Given the description of an element on the screen output the (x, y) to click on. 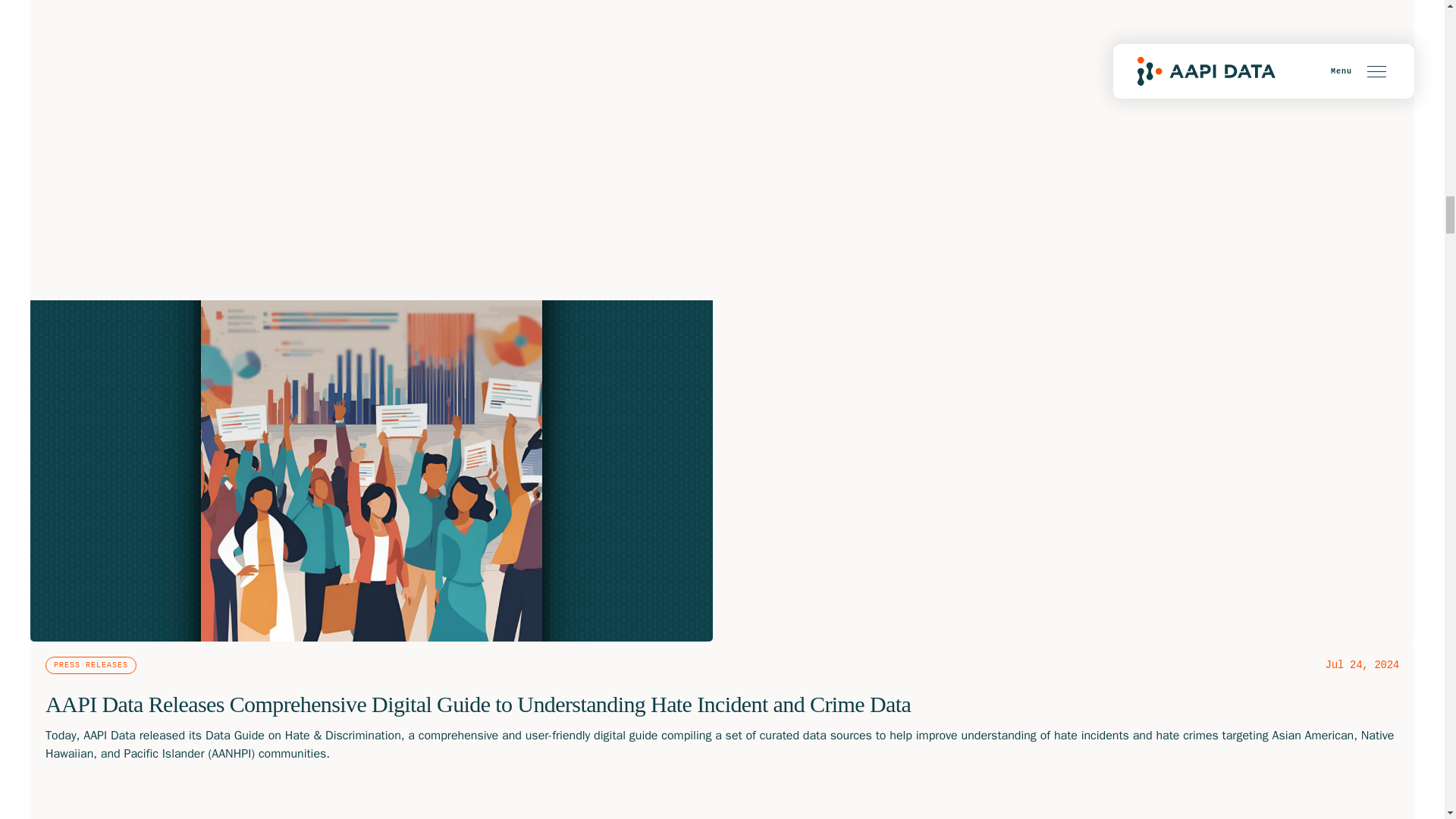
Jul 24, 2024 (1361, 664)
PRESS RELEASES (90, 665)
